Given the description of an element on the screen output the (x, y) to click on. 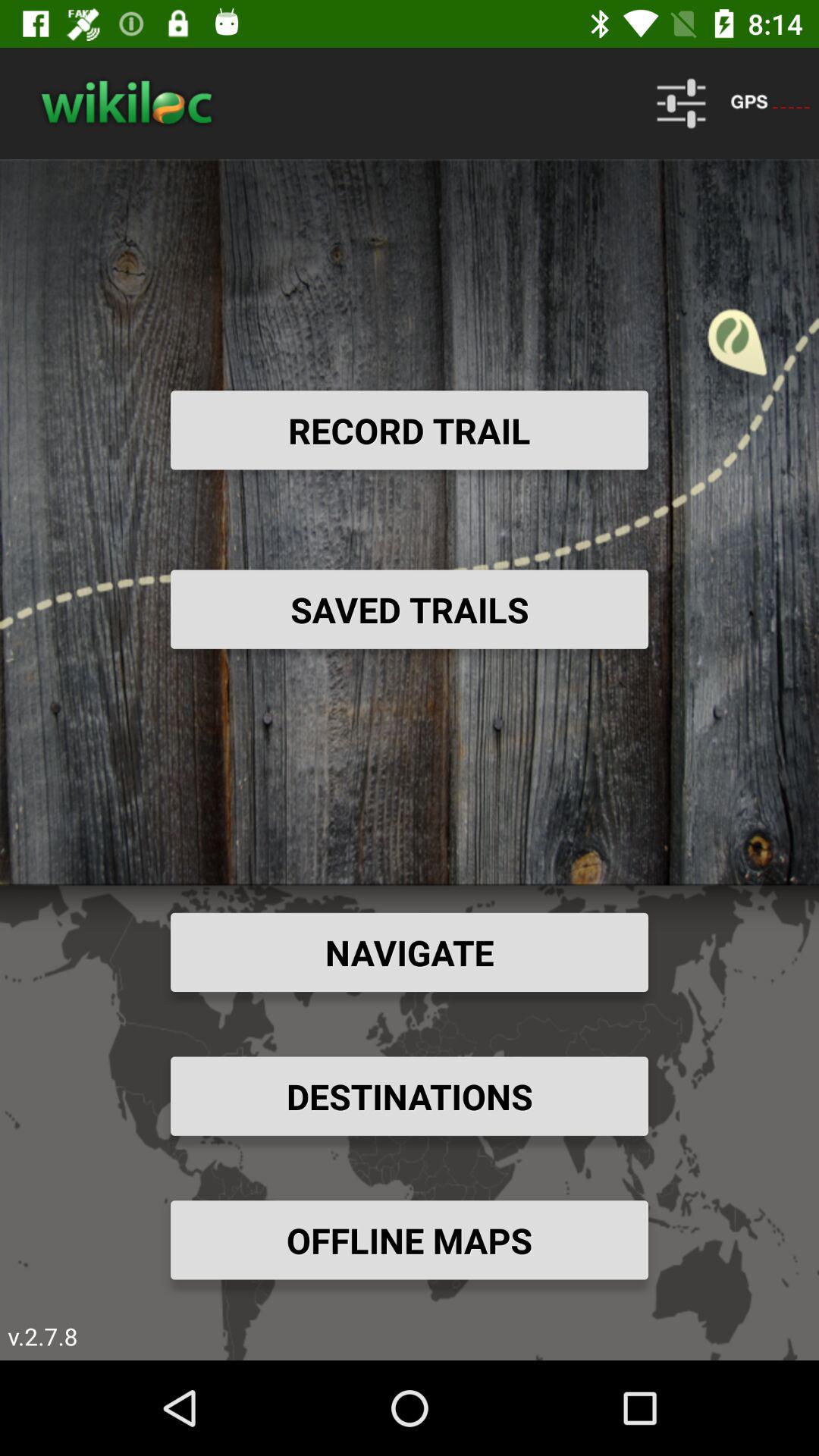
select item below record trail item (409, 608)
